Given the description of an element on the screen output the (x, y) to click on. 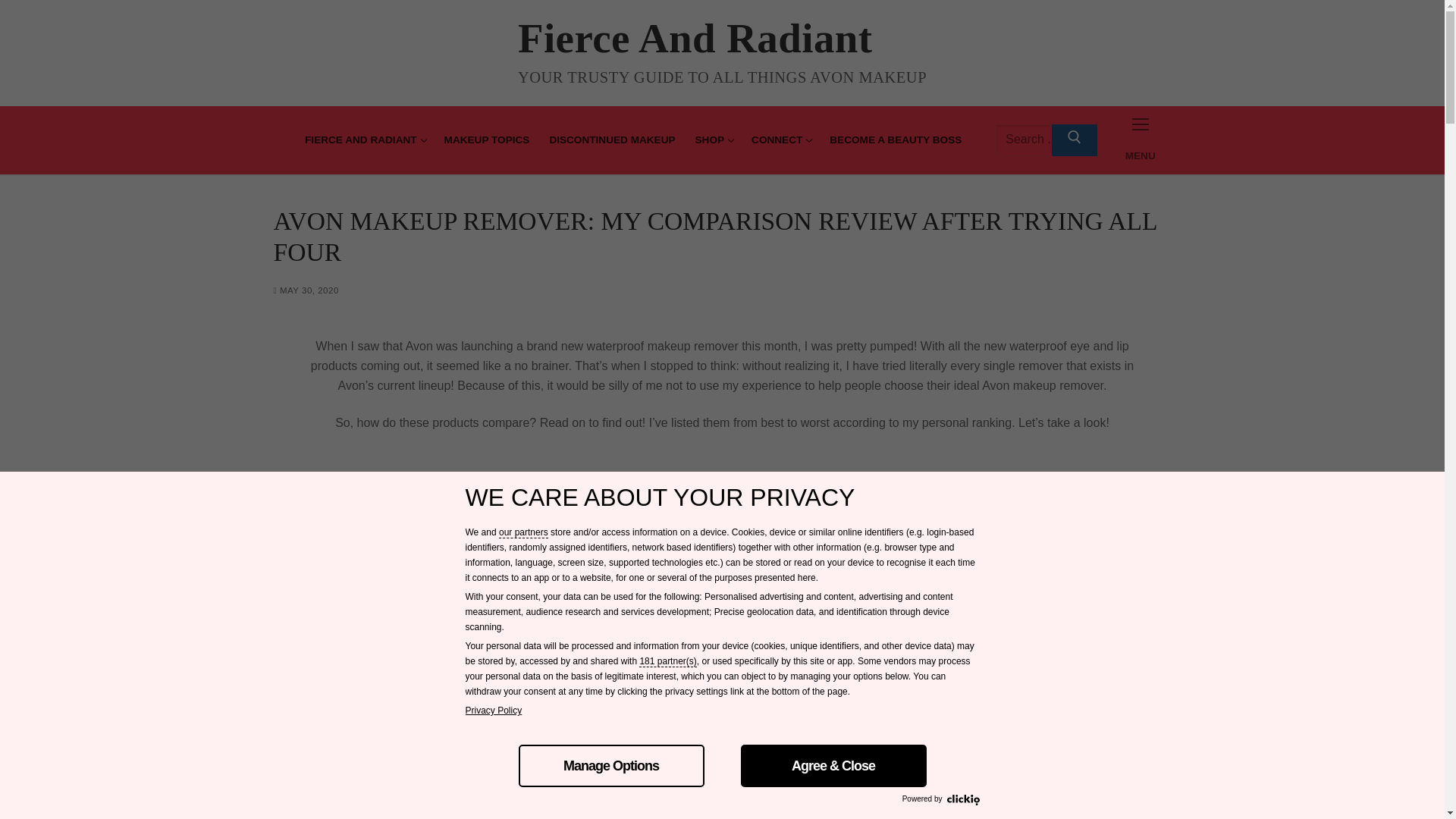
MENU (1140, 139)
DISCONTINUED MAKEUP (611, 140)
MAKEUP TOPICS (486, 140)
MAY 30, 2020 (305, 289)
Search for: (780, 140)
BECOME A BEAUTY BOSS (1038, 139)
Clickio (364, 140)
